Given the description of an element on the screen output the (x, y) to click on. 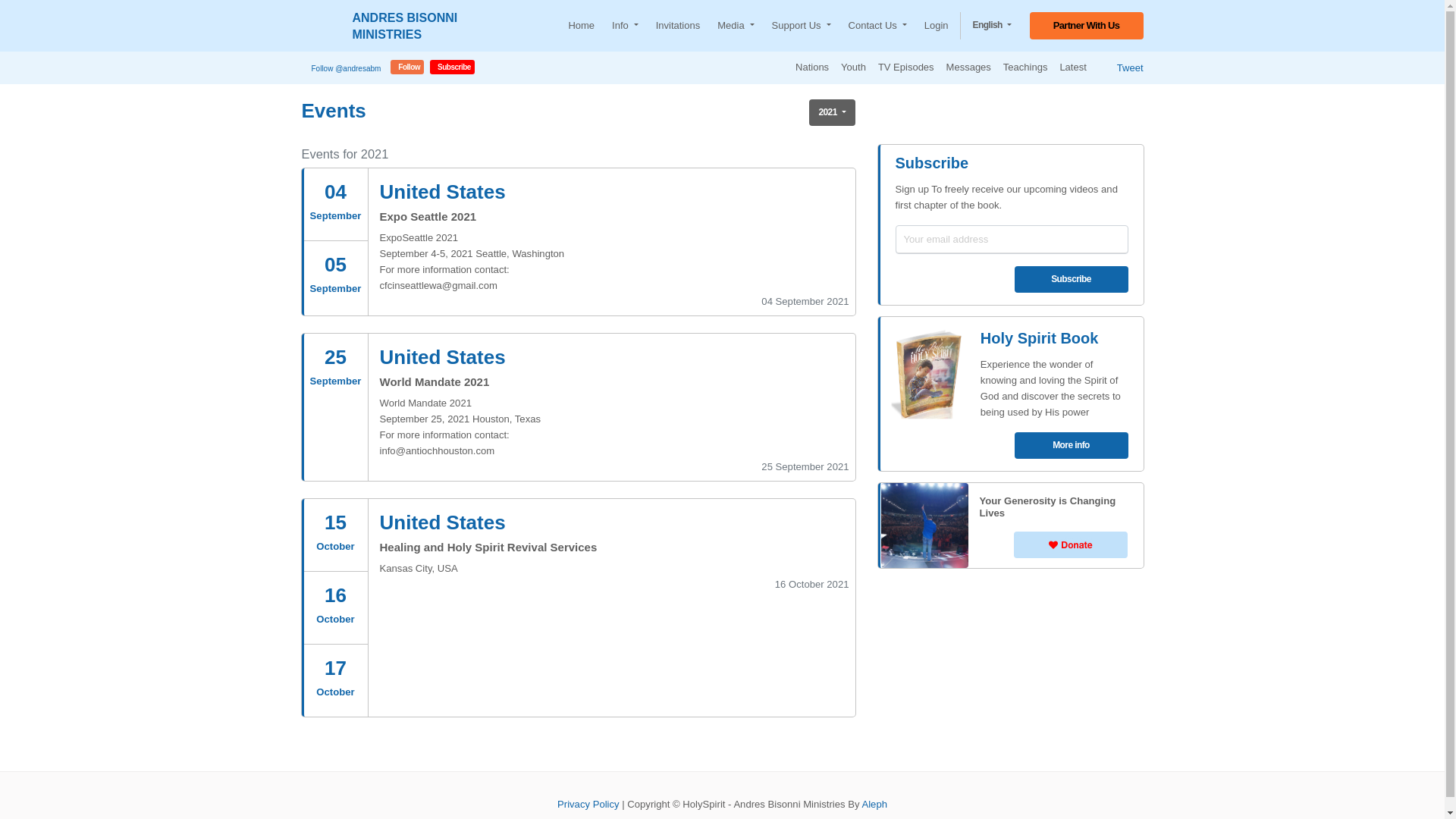
Home Element type: text (580, 26)
Aleph Element type: text (874, 803)
Contact Us Element type: text (877, 26)
Tweet Element type: text (1130, 67)
Subscribe Element type: text (451, 66)
Partner With Us Element type: text (1086, 26)
ANDRES BISONNI
MINISTRIES Element type: text (384, 25)
TV Episodes Element type: text (906, 67)
Nations Element type: text (811, 67)
PayPal - The safer, easier way to pay online! Element type: hover (1070, 544)
Latest Element type: text (1072, 67)
Teachings Element type: text (1025, 67)
More info Element type: text (1071, 445)
Subscribe Element type: text (1071, 279)
Follow @andresabm Element type: text (346, 68)
Follow Element type: text (406, 66)
Youth Element type: text (853, 67)
2021 Element type: text (831, 112)
Privacy Policy Element type: text (588, 803)
Media Element type: text (735, 26)
English Element type: text (991, 25)
Login Element type: text (936, 26)
Support Us Element type: text (801, 26)
Info Element type: text (624, 26)
Invitations Element type: text (677, 26)
Messages Element type: text (968, 67)
